Given the description of an element on the screen output the (x, y) to click on. 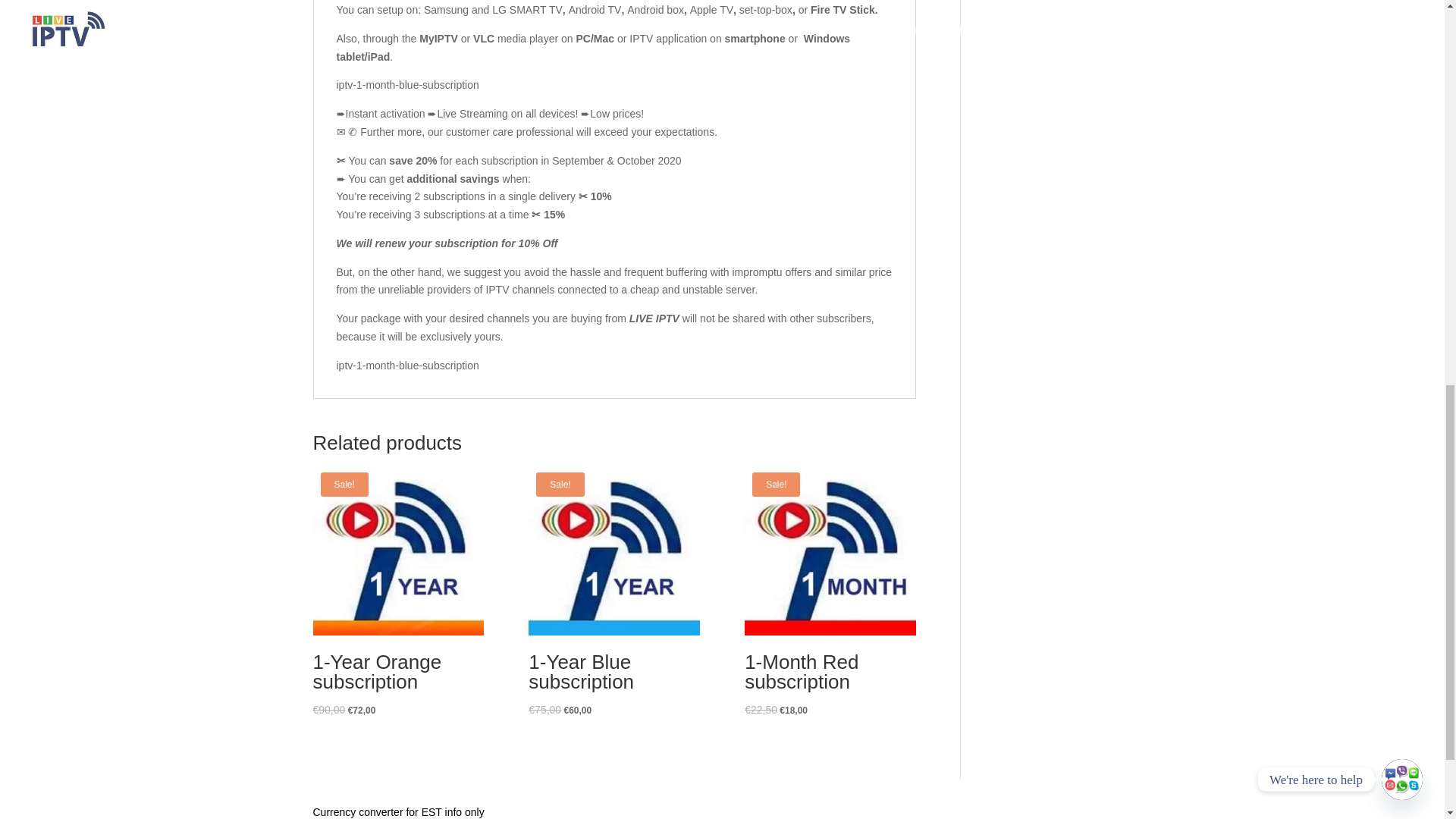
Original price:18 (793, 710)
Original price:72 (361, 710)
Original price:60 (578, 710)
Original price:22.5 (760, 709)
Original price:75 (544, 709)
Original price:90 (329, 709)
